Given the description of an element on the screen output the (x, y) to click on. 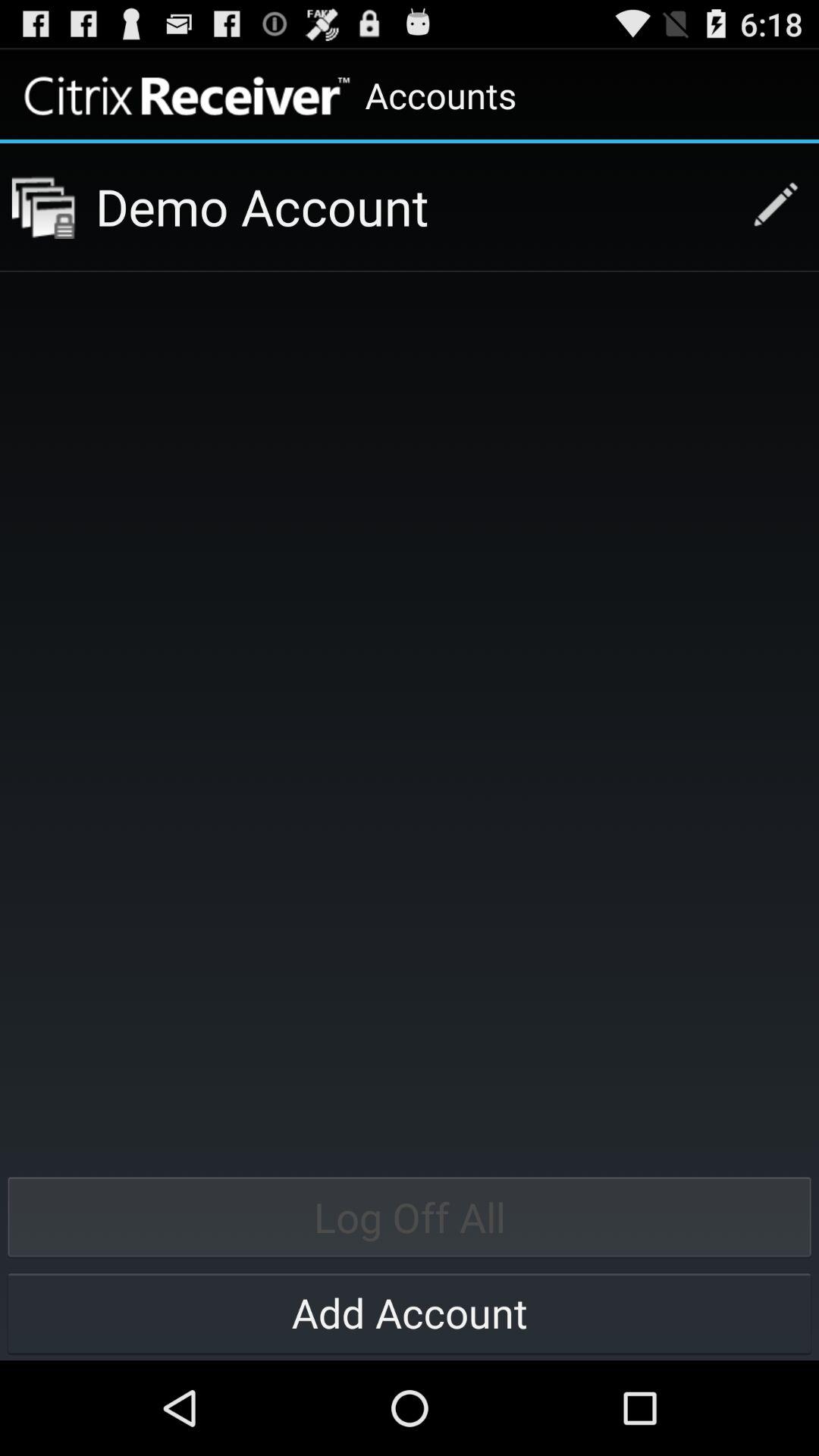
turn off item to the left of demo account item (43, 206)
